Given the description of an element on the screen output the (x, y) to click on. 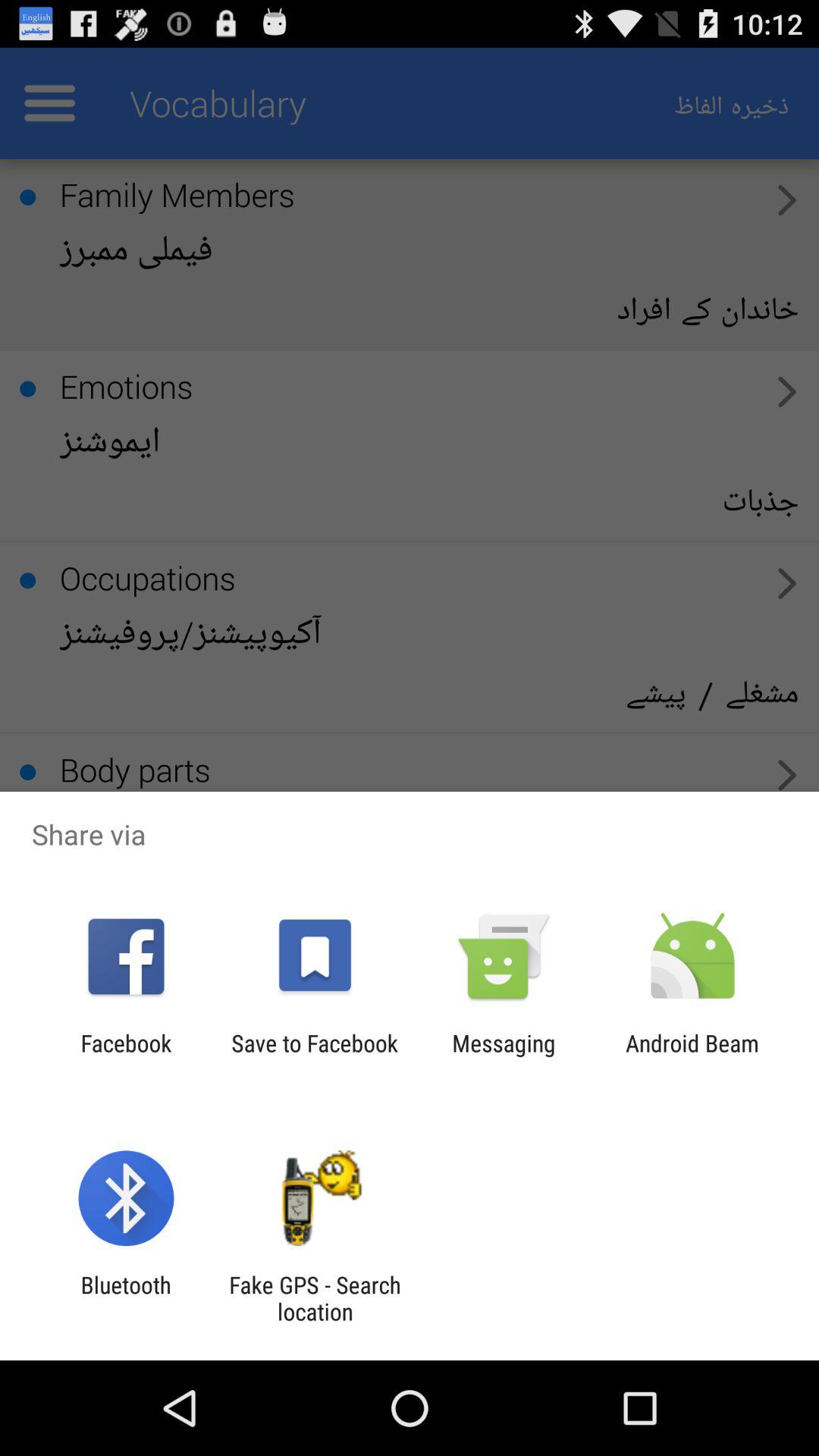
press the app to the left of the android beam item (503, 1056)
